Given the description of an element on the screen output the (x, y) to click on. 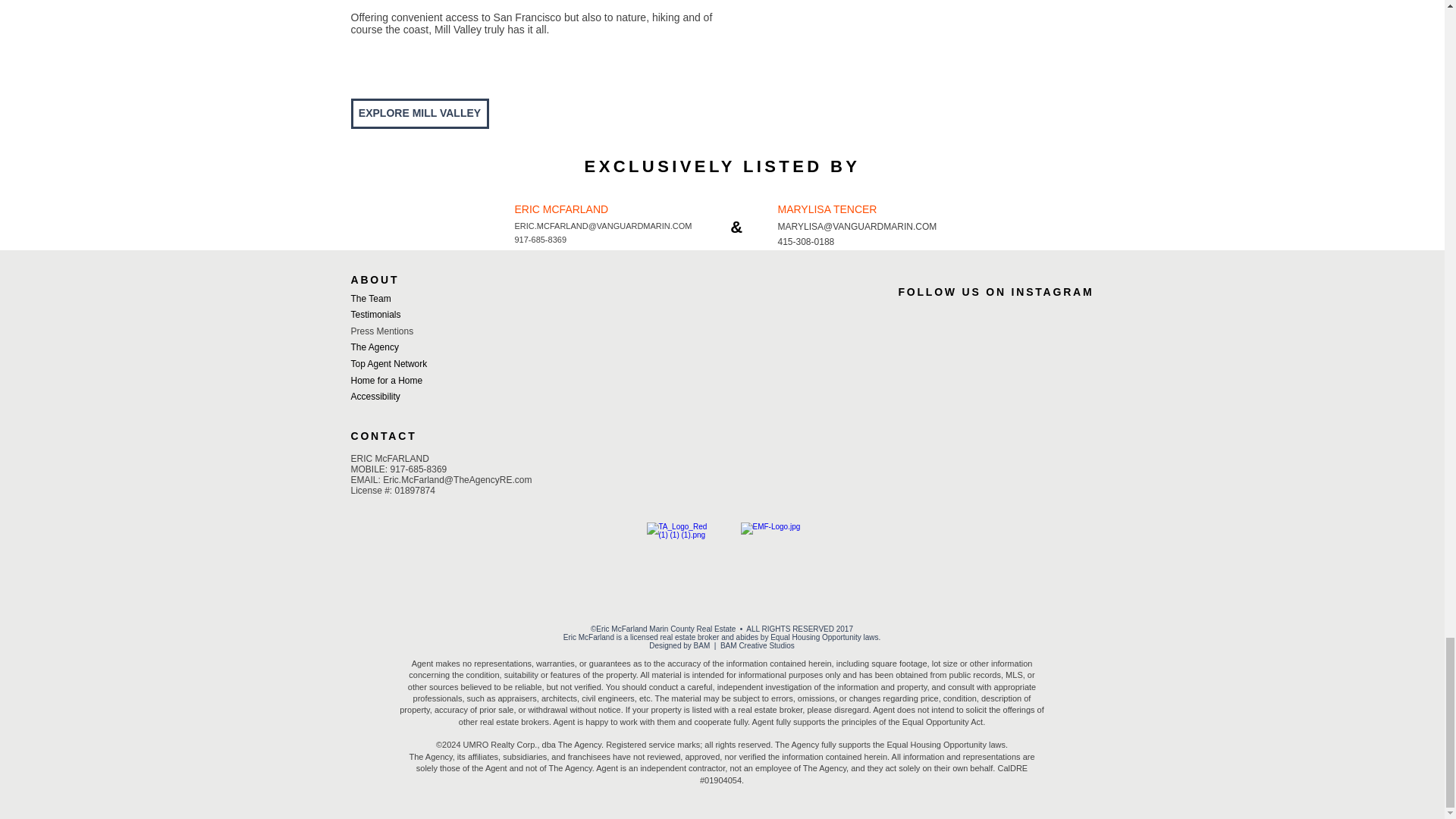
EXPLORE MILL VALLEY (418, 113)
